Given the description of an element on the screen output the (x, y) to click on. 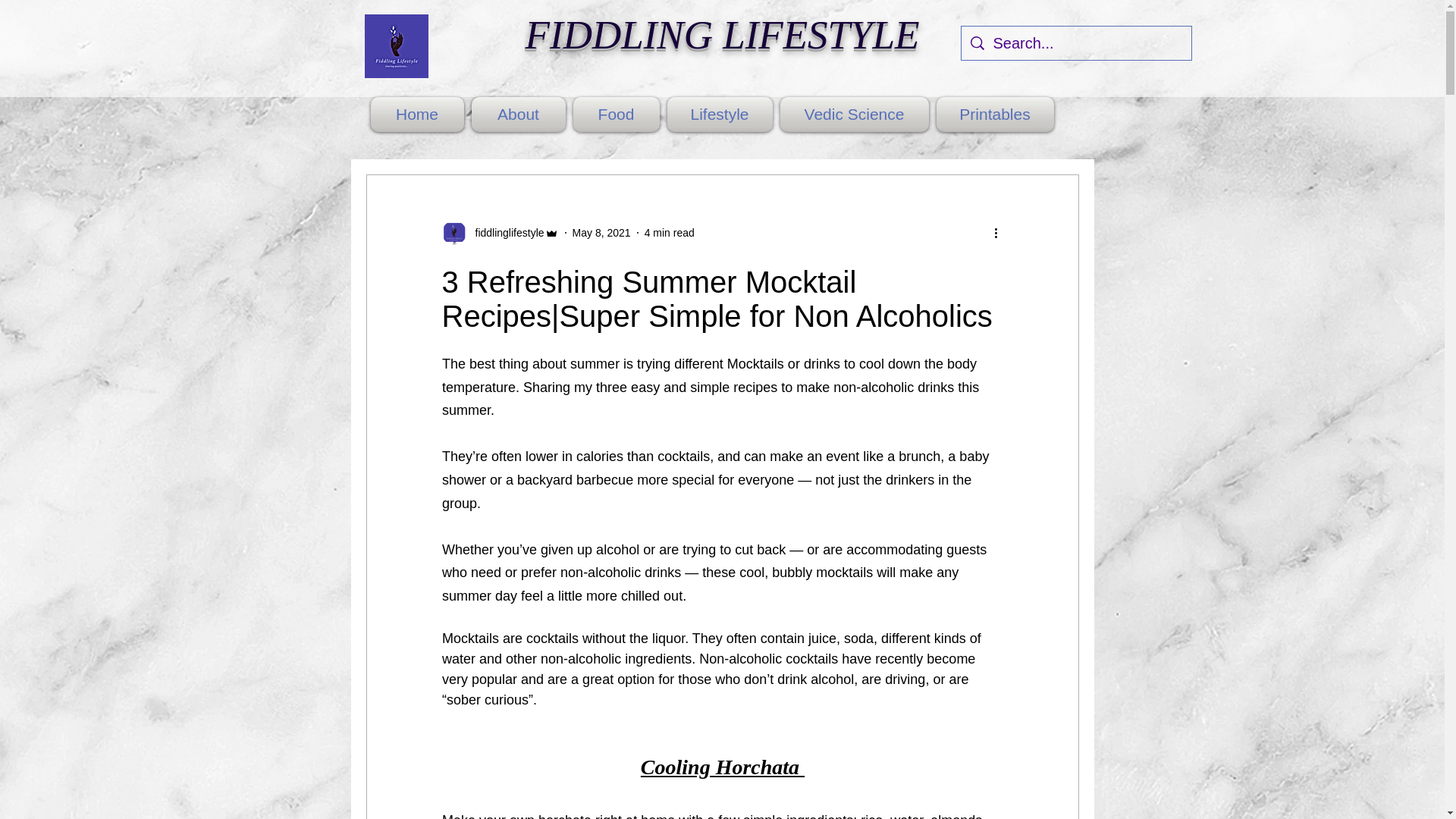
May 8, 2021 (601, 232)
Home (418, 114)
Printables (993, 114)
Lifestyle (719, 114)
fiddlinglifestyle (499, 232)
FIDDLING LIFESTYLE (722, 34)
fiddlinglifestyle (504, 232)
About (518, 114)
Food (615, 114)
4 min read (669, 232)
